Given the description of an element on the screen output the (x, y) to click on. 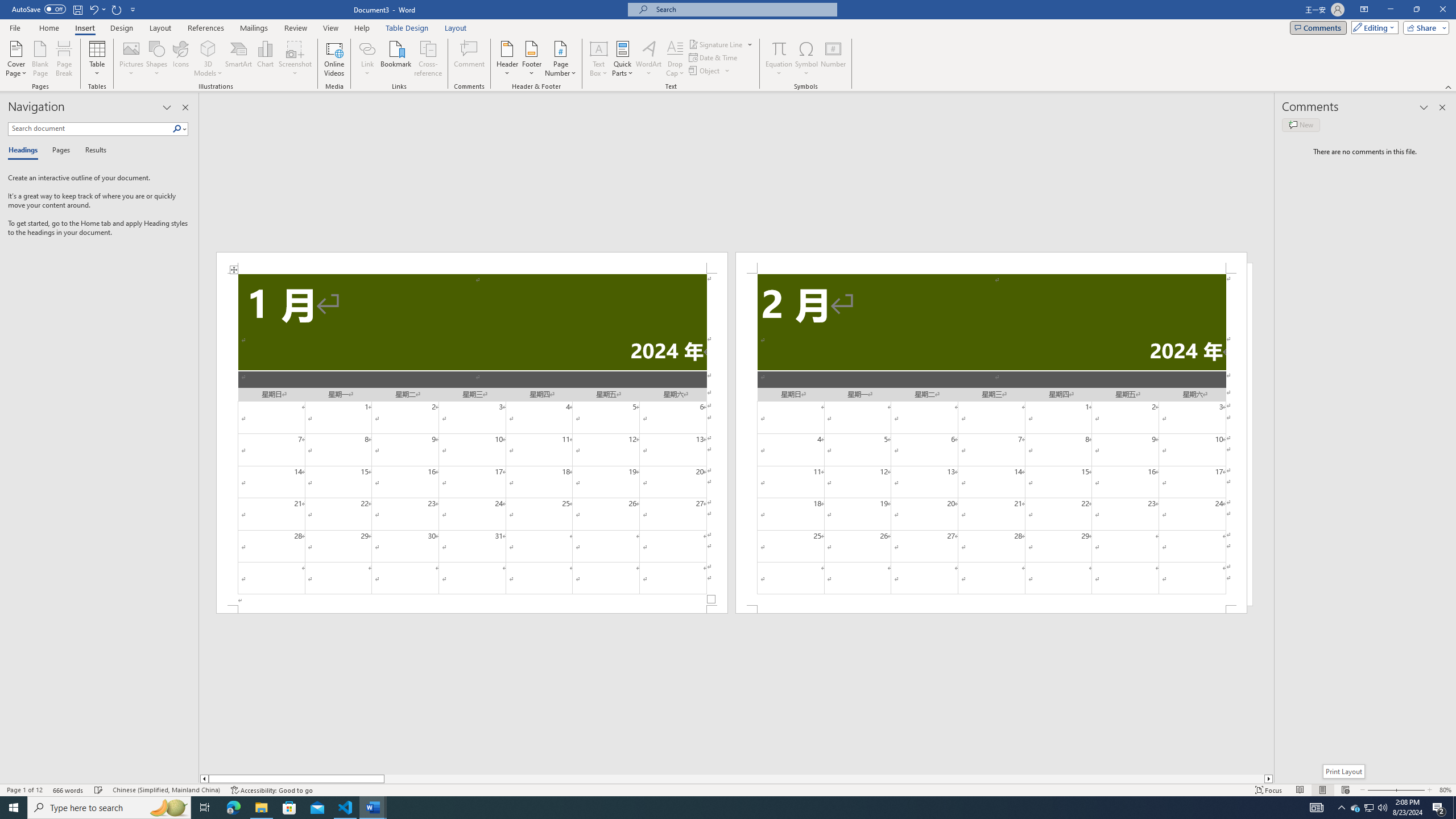
Class: NetUIScrollBar (736, 778)
Class: NetUIImage (177, 128)
Mailings (253, 28)
Page right (823, 778)
Ribbon Display Options (1364, 9)
Date & Time... (714, 56)
Quick Parts (622, 58)
Home (48, 28)
SmartArt... (238, 58)
Page 1 content (471, 439)
Header (507, 58)
Header -Section 1- (471, 263)
Accessibility Checker Accessibility: Good to go (271, 790)
Search (177, 128)
